Given the description of an element on the screen output the (x, y) to click on. 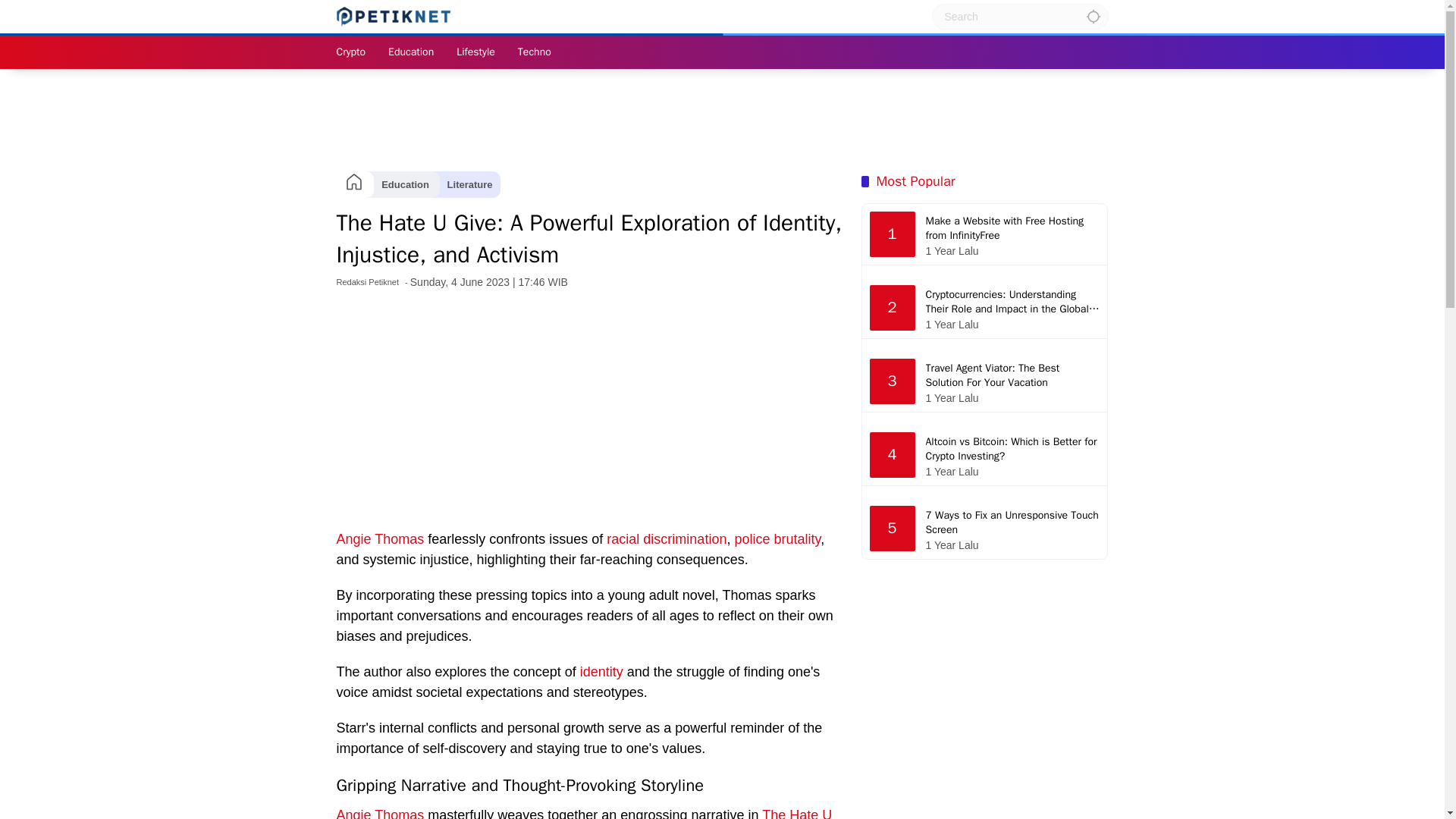
Redaksi Petiknet (367, 282)
Education (405, 184)
Advertisement (590, 408)
Redaksi Petiknet (367, 282)
identity (601, 671)
Lifestyle (476, 52)
Education (410, 52)
Angie Thomas (380, 539)
Education (405, 184)
Angie Thomas (380, 813)
Angie Thomas (380, 813)
The Hate U Give (584, 813)
Education (410, 52)
racial discrimination (666, 539)
Home (353, 184)
